Given the description of an element on the screen output the (x, y) to click on. 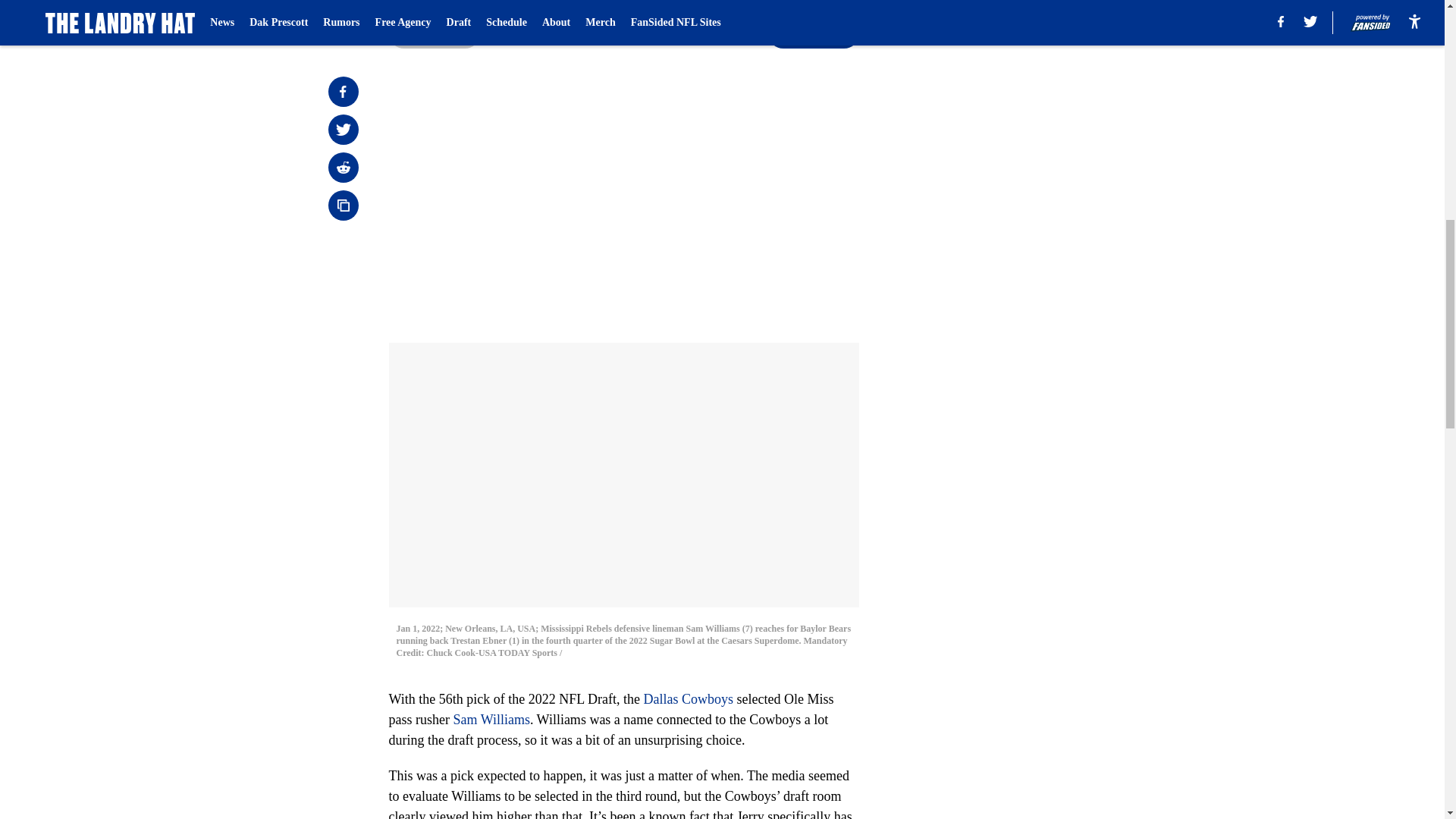
Next (813, 33)
Prev (433, 33)
Sam Williams (490, 719)
Dallas Cowboys (688, 698)
